Given the description of an element on the screen output the (x, y) to click on. 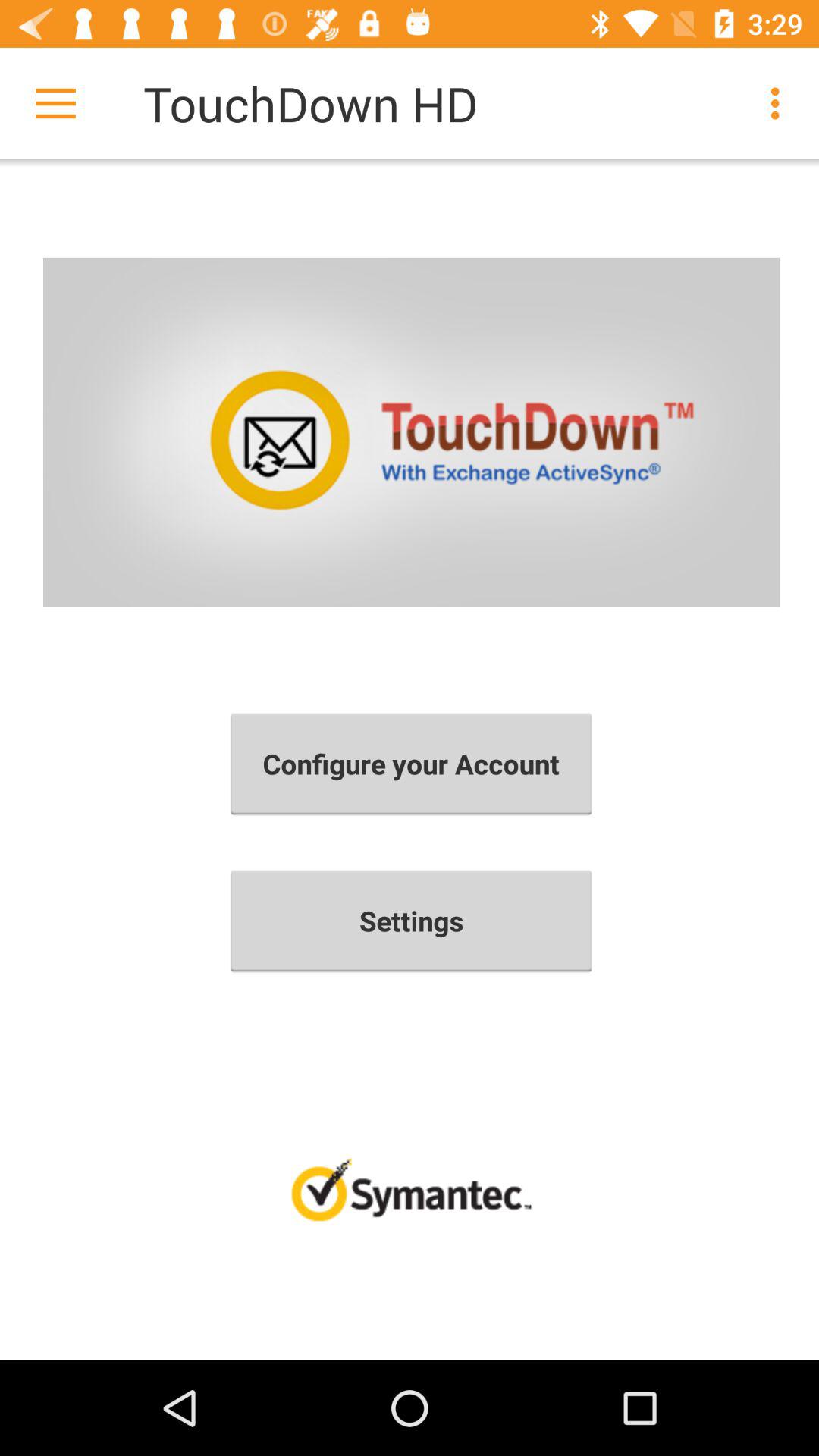
click item below configure your account icon (410, 920)
